Given the description of an element on the screen output the (x, y) to click on. 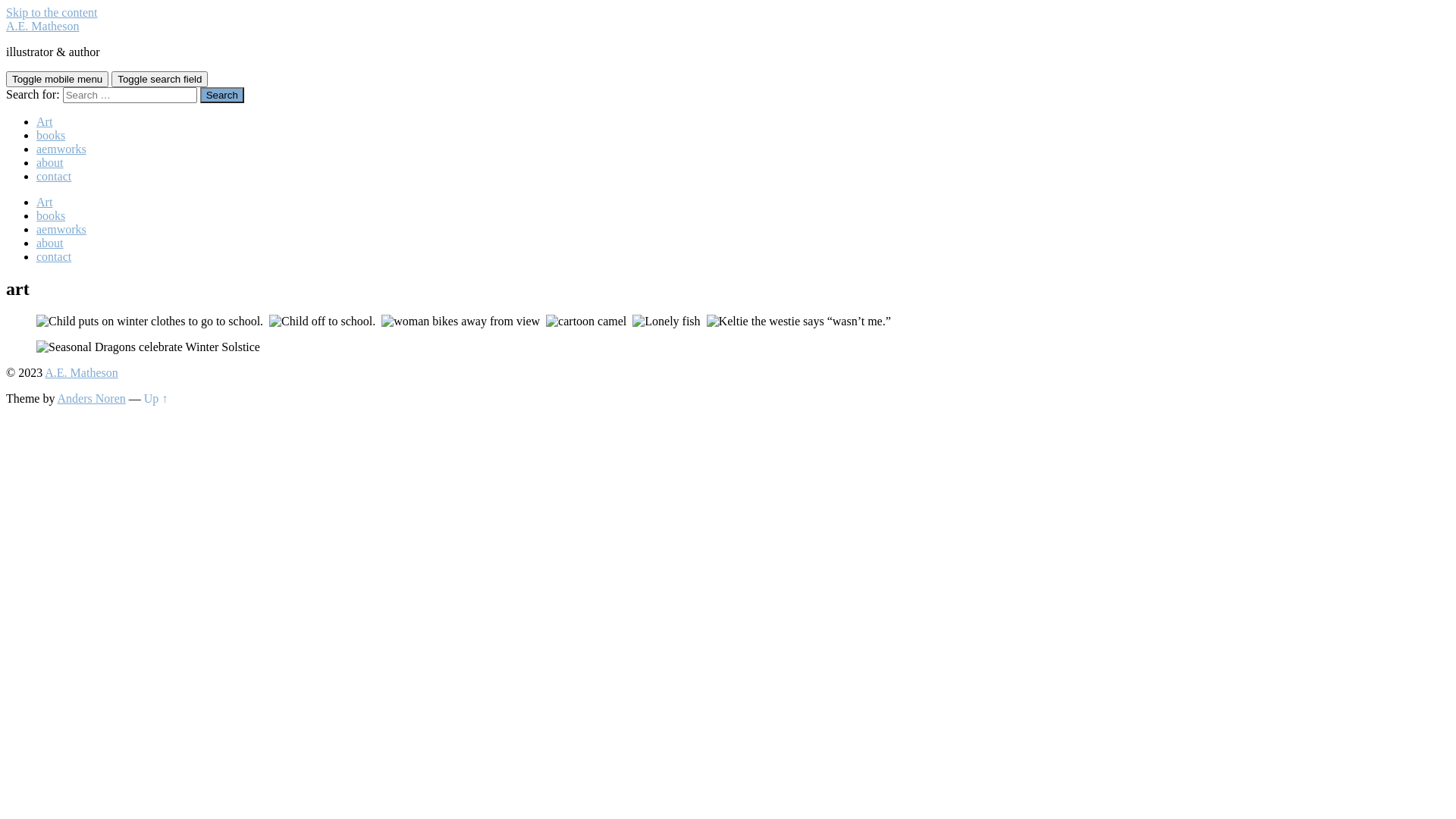
about Element type: text (49, 242)
A.E. Matheson Element type: text (42, 25)
contact Element type: text (53, 175)
Anders Noren Element type: text (91, 398)
books Element type: text (50, 215)
Skip to the content Element type: text (51, 12)
Toggle search field Element type: text (159, 79)
contact Element type: text (53, 256)
about Element type: text (49, 162)
aemworks Element type: text (61, 148)
aemworks Element type: text (61, 228)
books Element type: text (50, 134)
Toggle mobile menu Element type: text (57, 79)
Art Element type: text (44, 121)
Search Element type: text (222, 95)
Art Element type: text (44, 201)
A.E. Matheson Element type: text (80, 372)
